Given the description of an element on the screen output the (x, y) to click on. 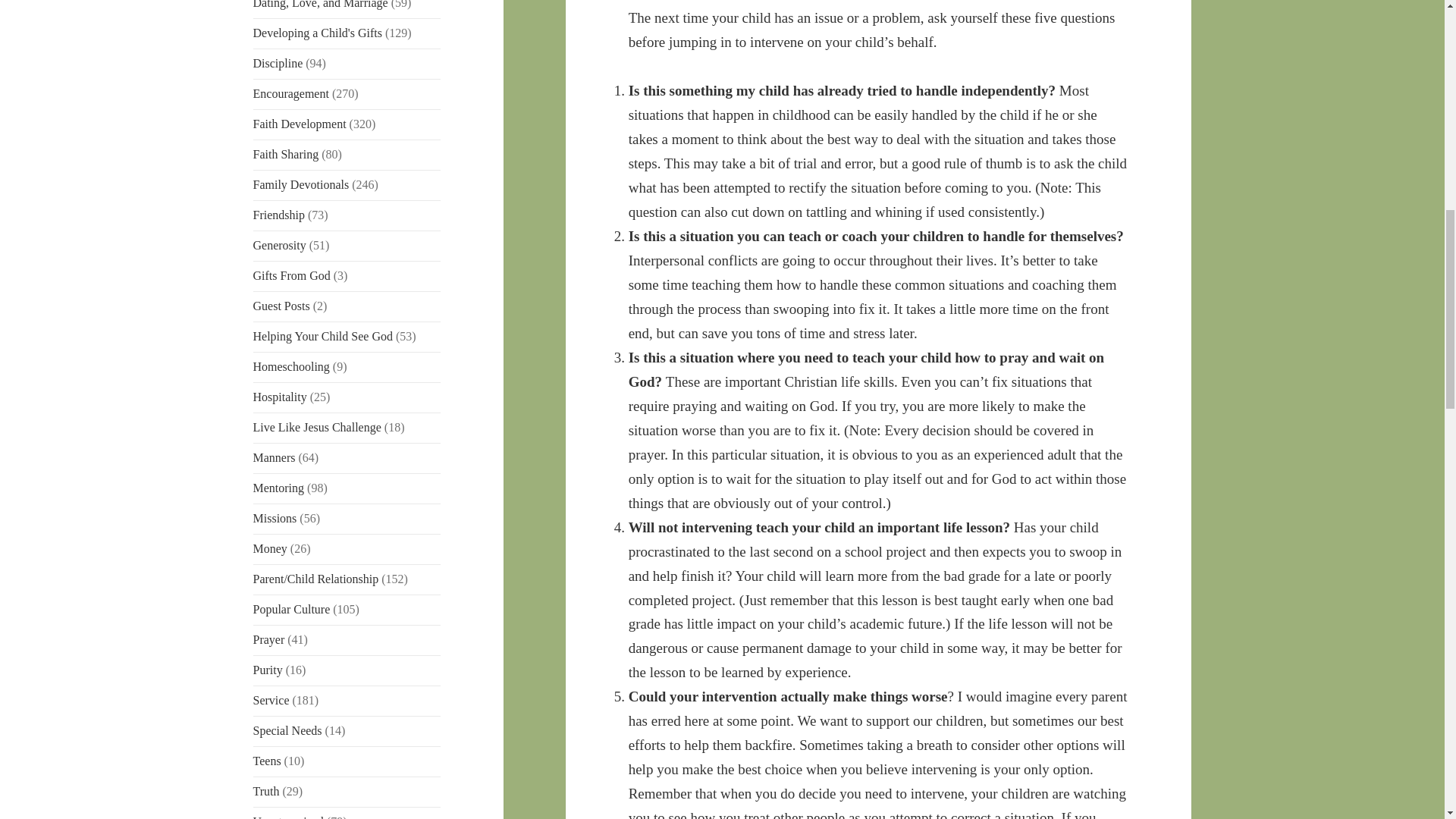
Generosity (279, 245)
Live Like Jesus Challenge (317, 427)
Developing a Child's Gifts (317, 32)
Discipline (277, 62)
Mentoring (278, 487)
Dating, Love, and Marriage (320, 4)
Gifts From God (291, 275)
Family Devotionals (301, 184)
Manners (274, 457)
Prayer (269, 639)
